Given the description of an element on the screen output the (x, y) to click on. 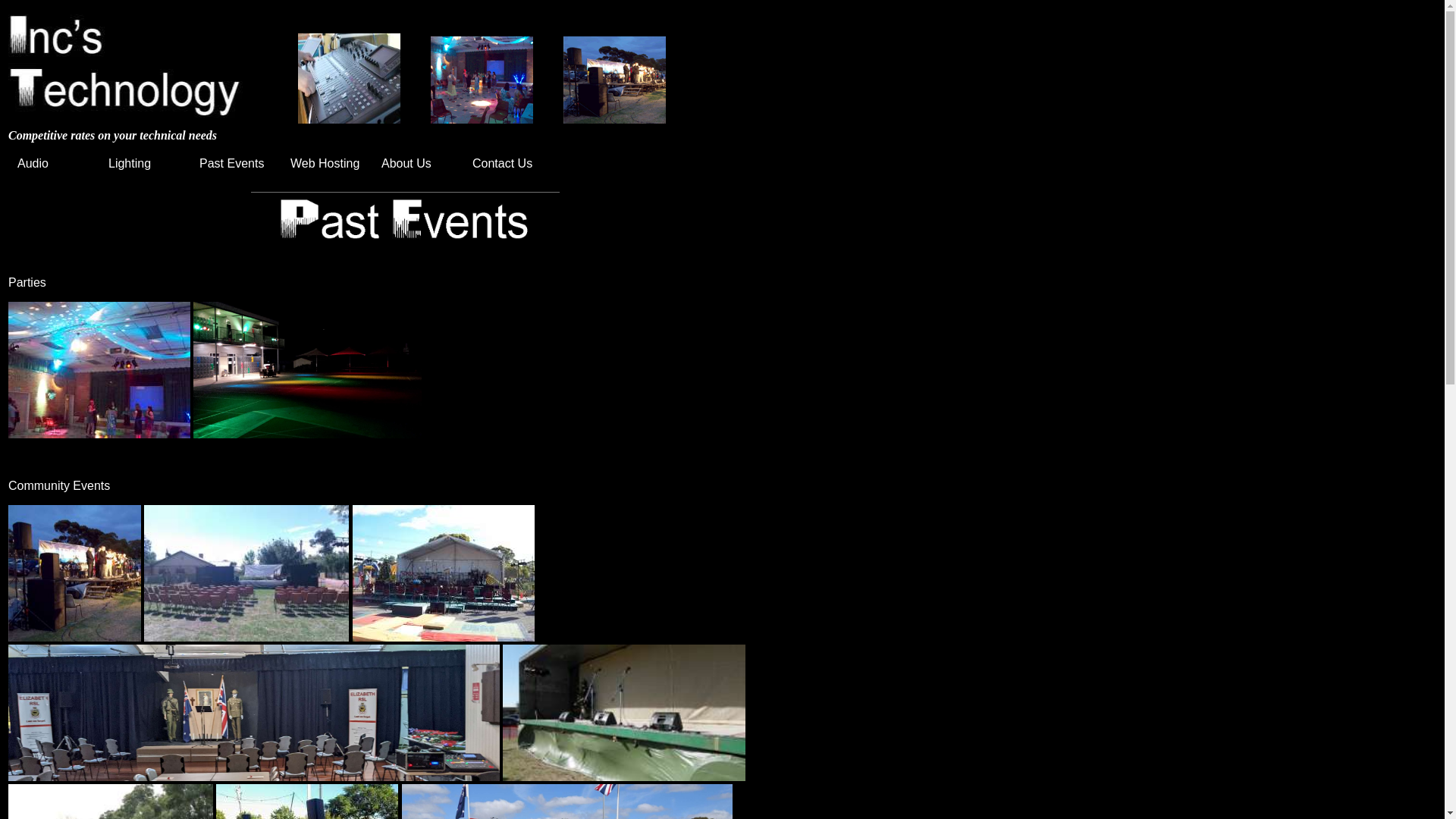
Past Events Element type: text (235, 163)
Web Hosting Element type: text (326, 163)
Contact Us Element type: text (508, 163)
Lighting Element type: text (144, 163)
Audio Element type: text (53, 163)
About Us Element type: text (417, 163)
